Given the description of an element on the screen output the (x, y) to click on. 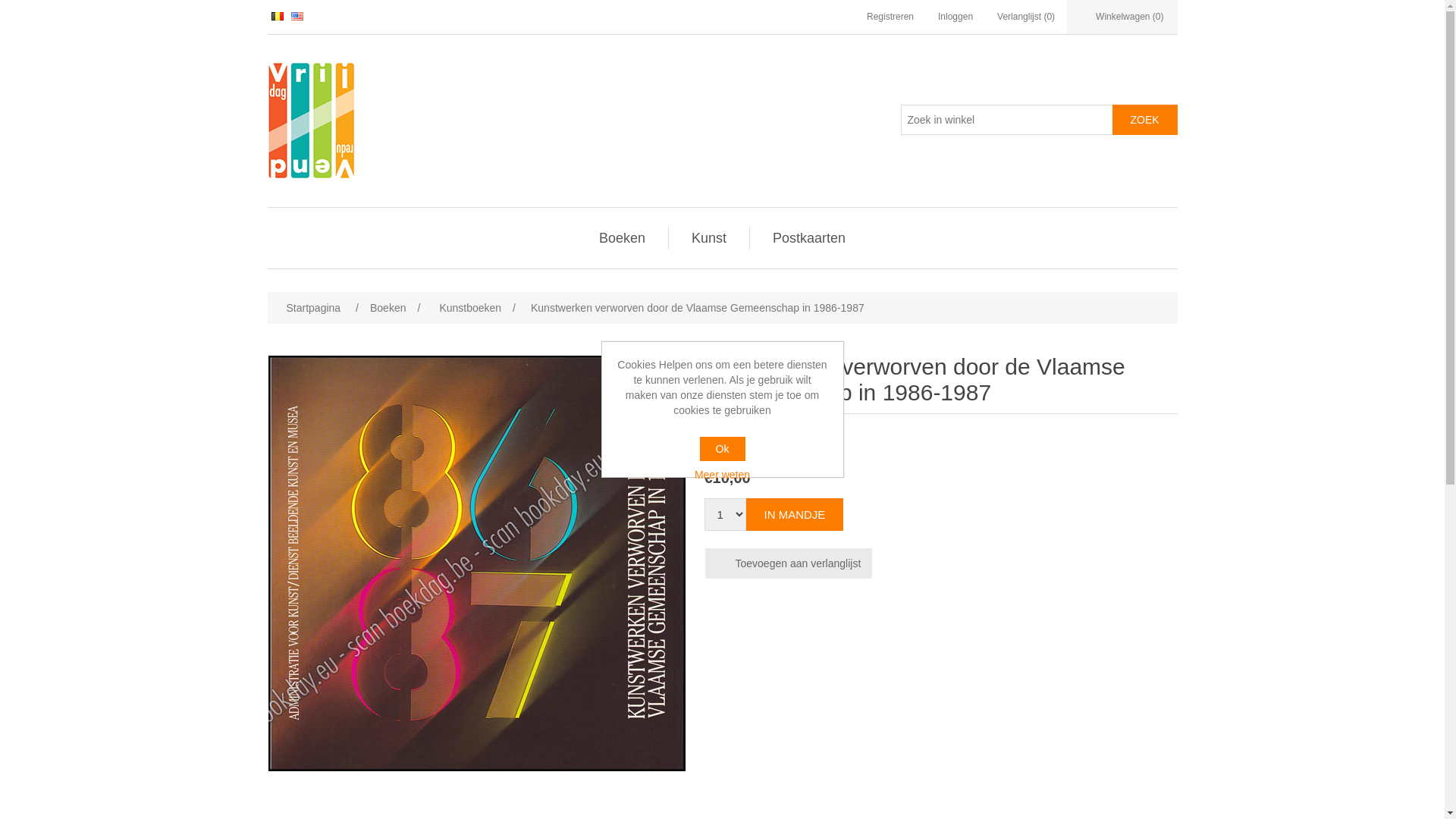
Postkaarten Element type: text (809, 237)
Boeken Element type: text (387, 307)
English Element type: hover (297, 16)
Registreren Element type: text (889, 17)
Startpagina Element type: text (313, 307)
Ok Element type: text (721, 448)
Zoek Element type: text (1143, 119)
Kunstboeken Element type: text (470, 307)
Inloggen Element type: text (955, 17)
Kunst Element type: text (709, 237)
Winkelwagen (0) Element type: text (1121, 17)
In mandje Element type: text (795, 514)
English Element type: hover (297, 15)
Nederlands Element type: hover (277, 16)
Verlanglijst (0) Element type: text (1025, 17)
Boeken Element type: text (621, 237)
Toevoegen aan verlanglijst Element type: text (788, 563)
Meer weten Element type: text (722, 474)
Nederlands Element type: hover (277, 15)
